Given the description of an element on the screen output the (x, y) to click on. 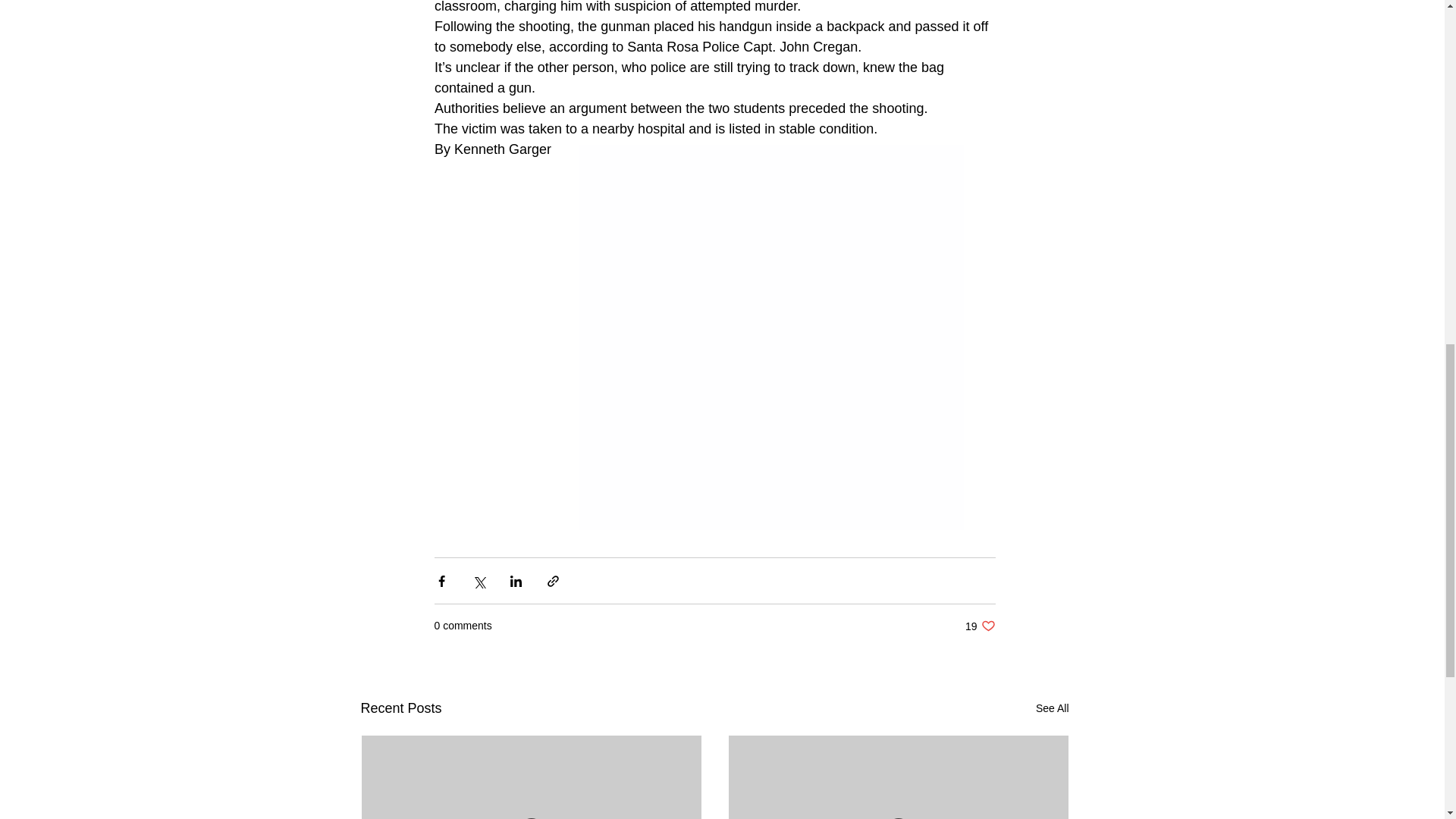
See All (980, 626)
